Given the description of an element on the screen output the (x, y) to click on. 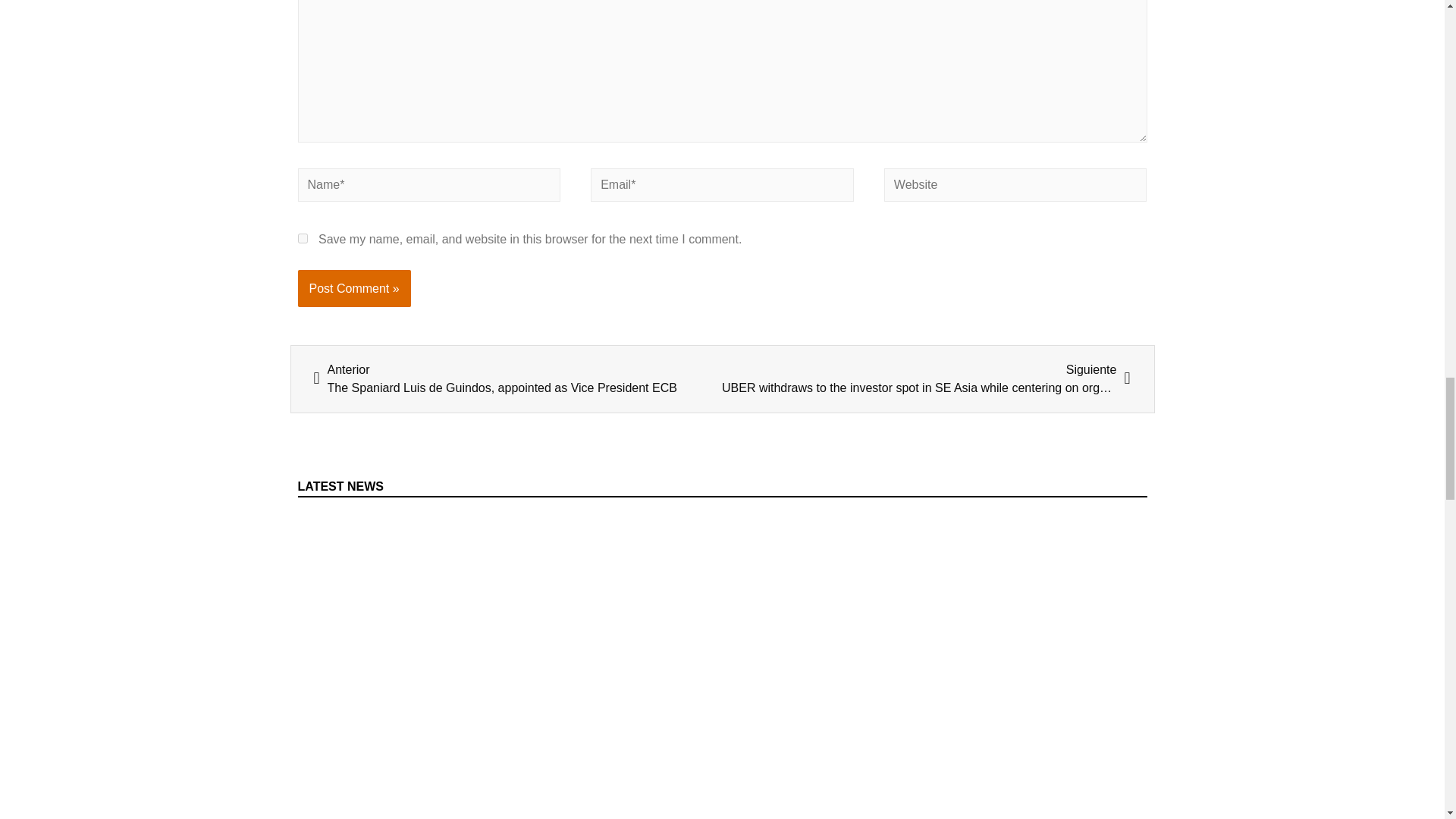
yes (302, 238)
